Given the description of an element on the screen output the (x, y) to click on. 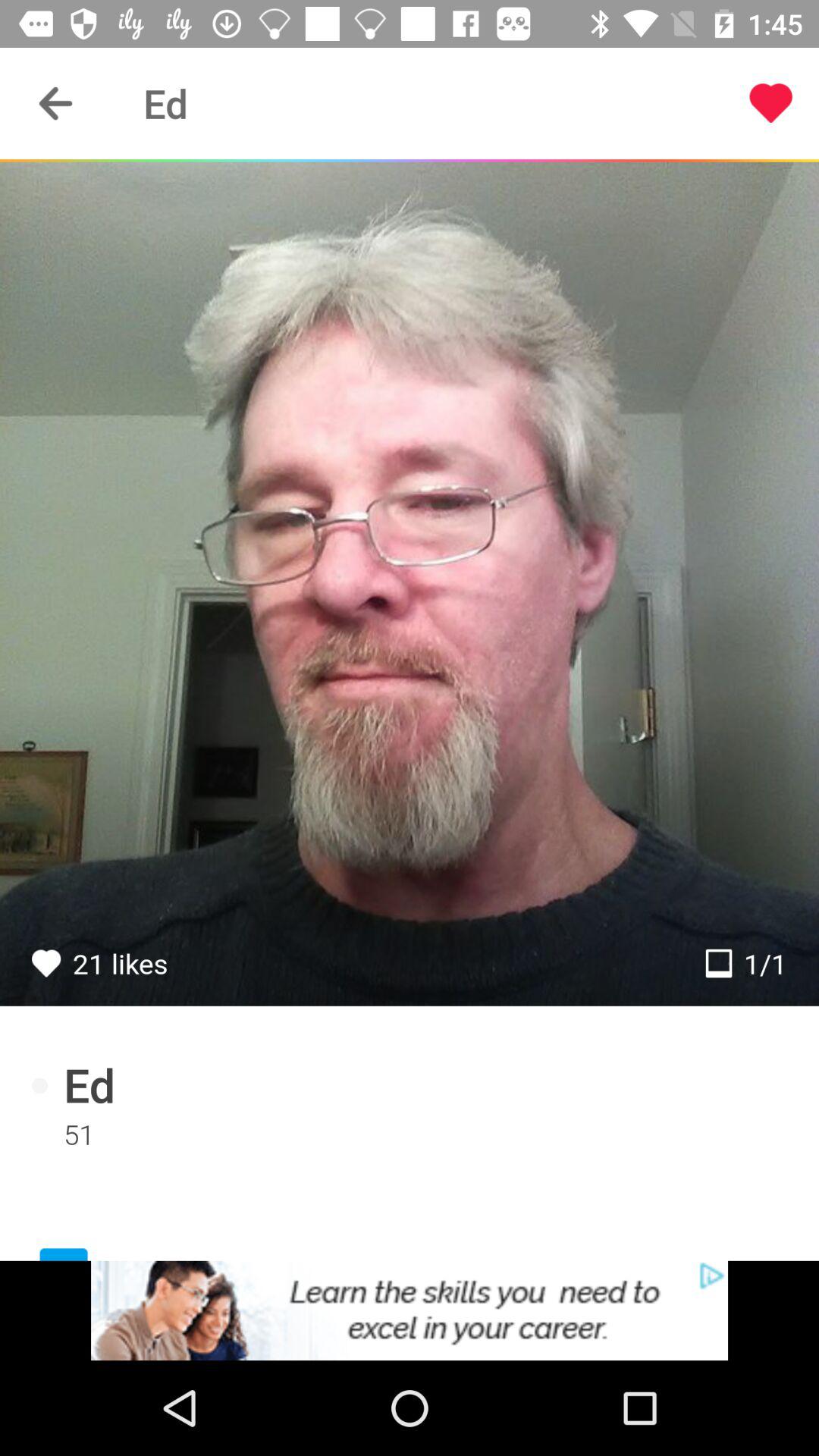
go back (55, 103)
